Given the description of an element on the screen output the (x, y) to click on. 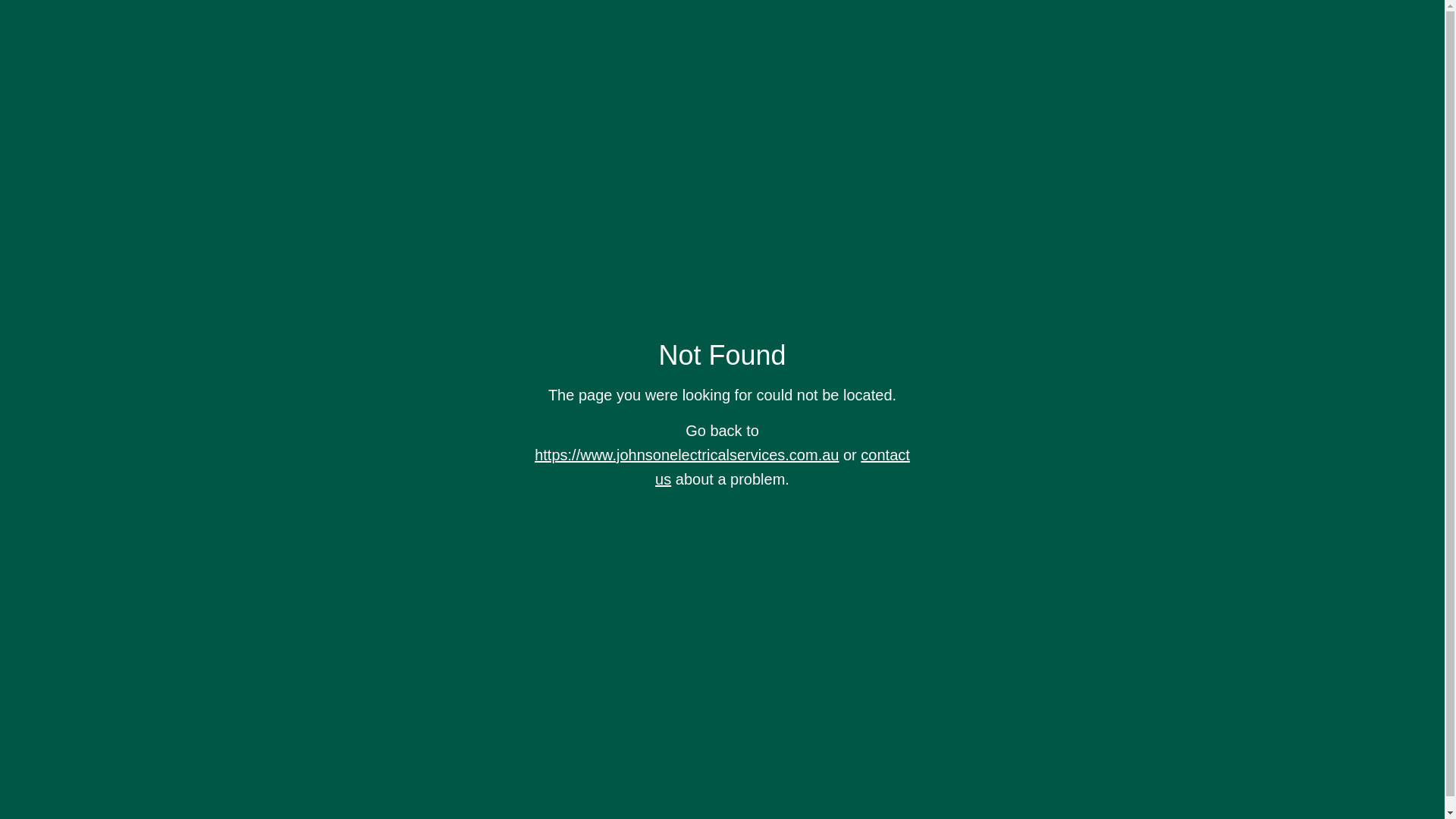
https://www.johnsonelectricalservices.com.au Element type: text (686, 454)
contact us Element type: text (782, 466)
